Given the description of an element on the screen output the (x, y) to click on. 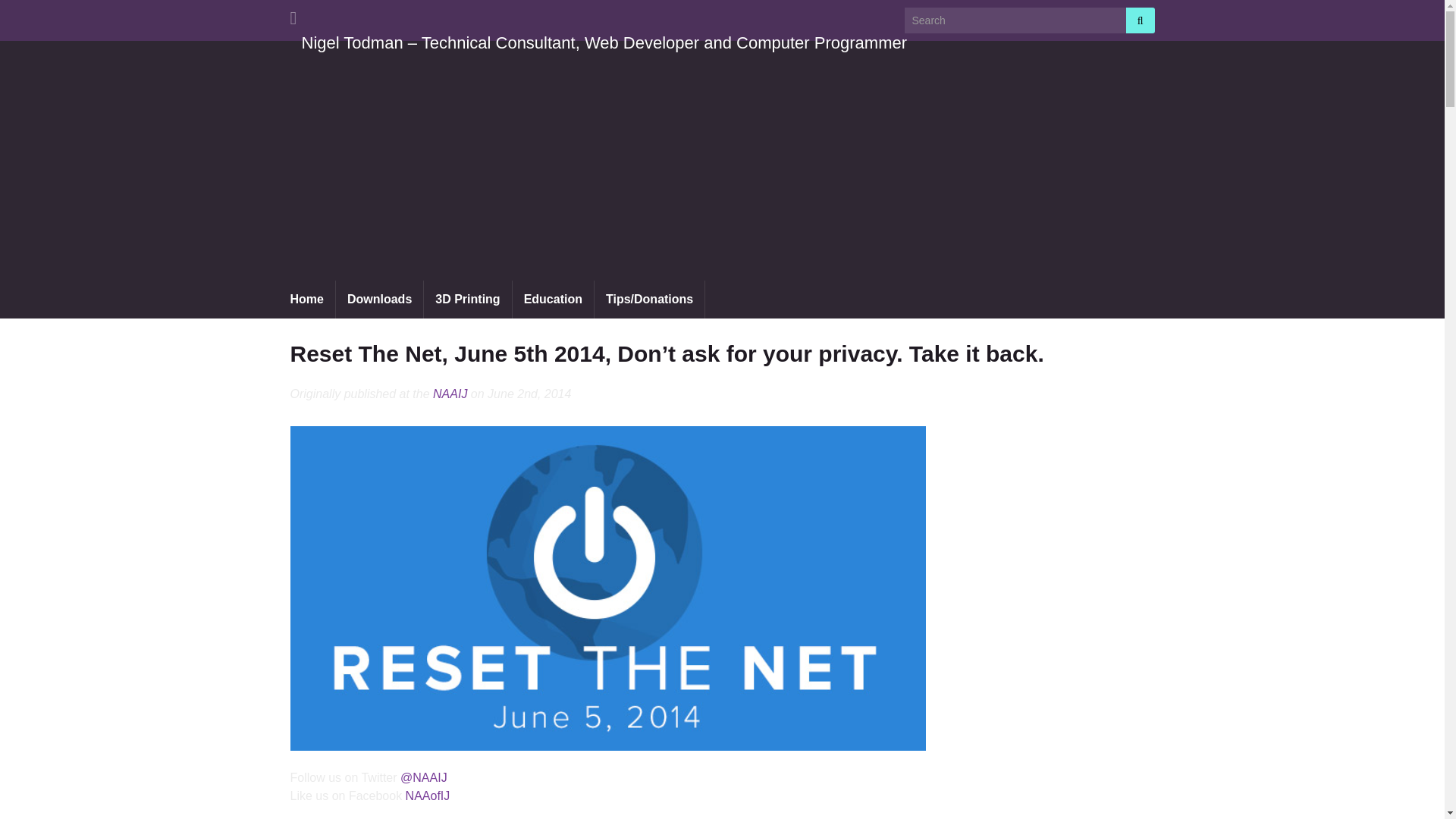
NAAIJ (449, 393)
Education (553, 299)
3D Printing (467, 299)
Home (306, 299)
NAAofIJ (427, 795)
Downloads (379, 299)
